Given the description of an element on the screen output the (x, y) to click on. 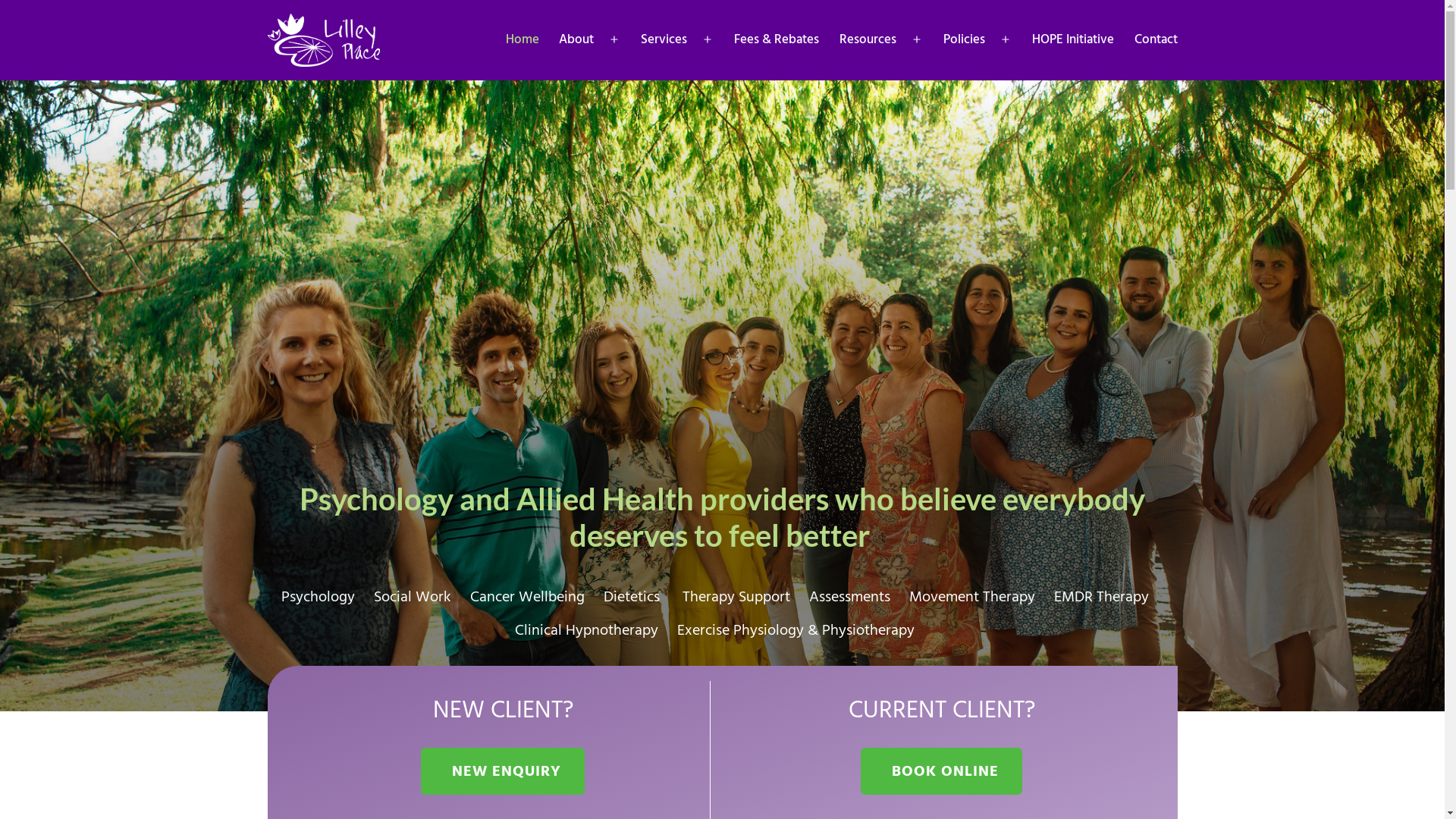
Services Element type: text (663, 39)
Contact Element type: text (1154, 39)
BOOK ONLINE Element type: text (941, 770)
Home Element type: text (521, 39)
Open menu Element type: text (707, 39)
Fees & Rebates Element type: text (776, 39)
Open menu Element type: text (1005, 39)
HOPE Initiative Element type: text (1072, 39)
Policies Element type: text (963, 39)
NEW ENQUIRY Element type: text (502, 770)
Open menu Element type: text (916, 39)
Resources Element type: text (867, 39)
Open menu Element type: text (613, 39)
About Element type: text (576, 39)
